Given the description of an element on the screen output the (x, y) to click on. 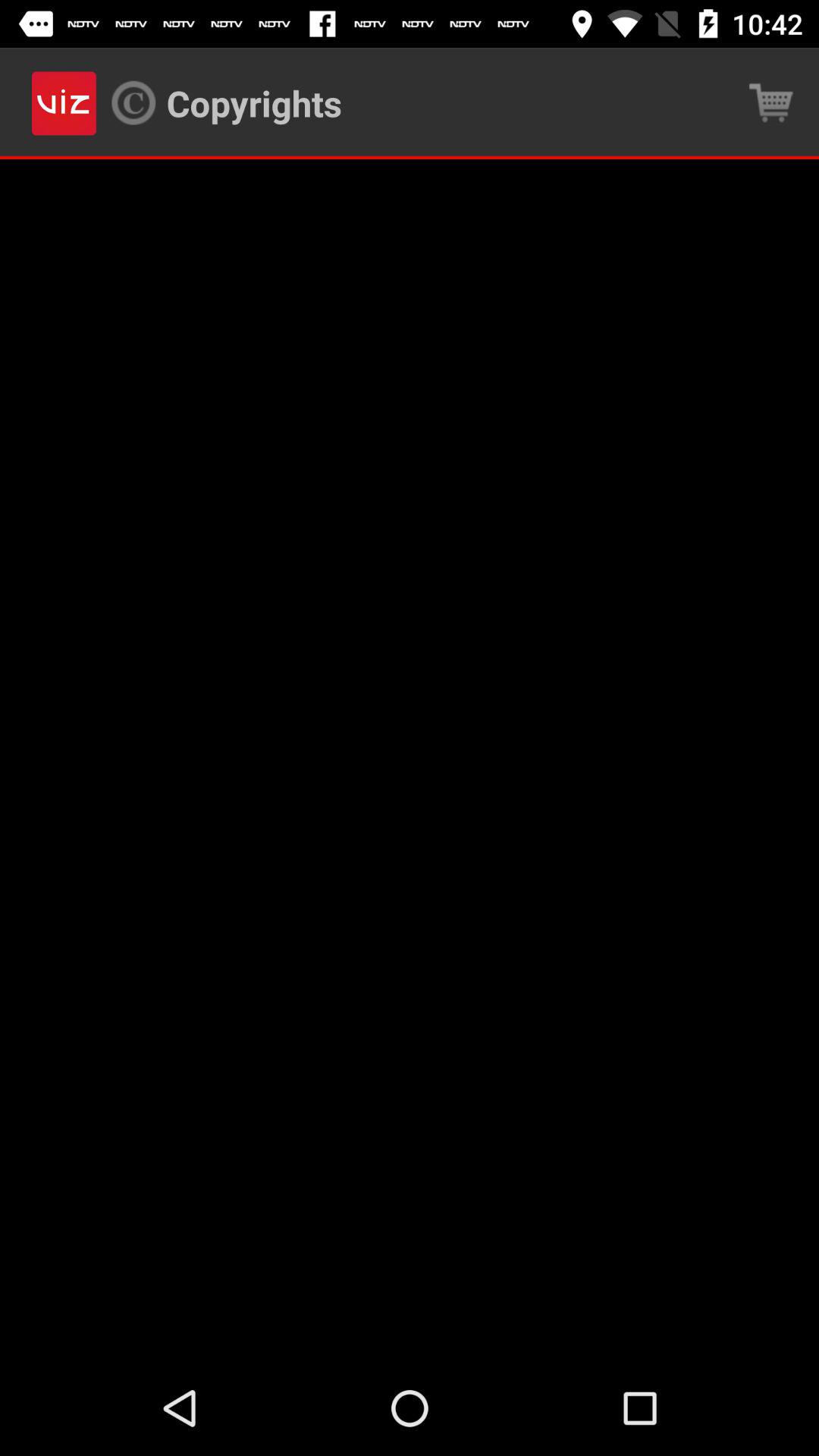
turn off the icon next to the  copyrights (771, 103)
